Given the description of an element on the screen output the (x, y) to click on. 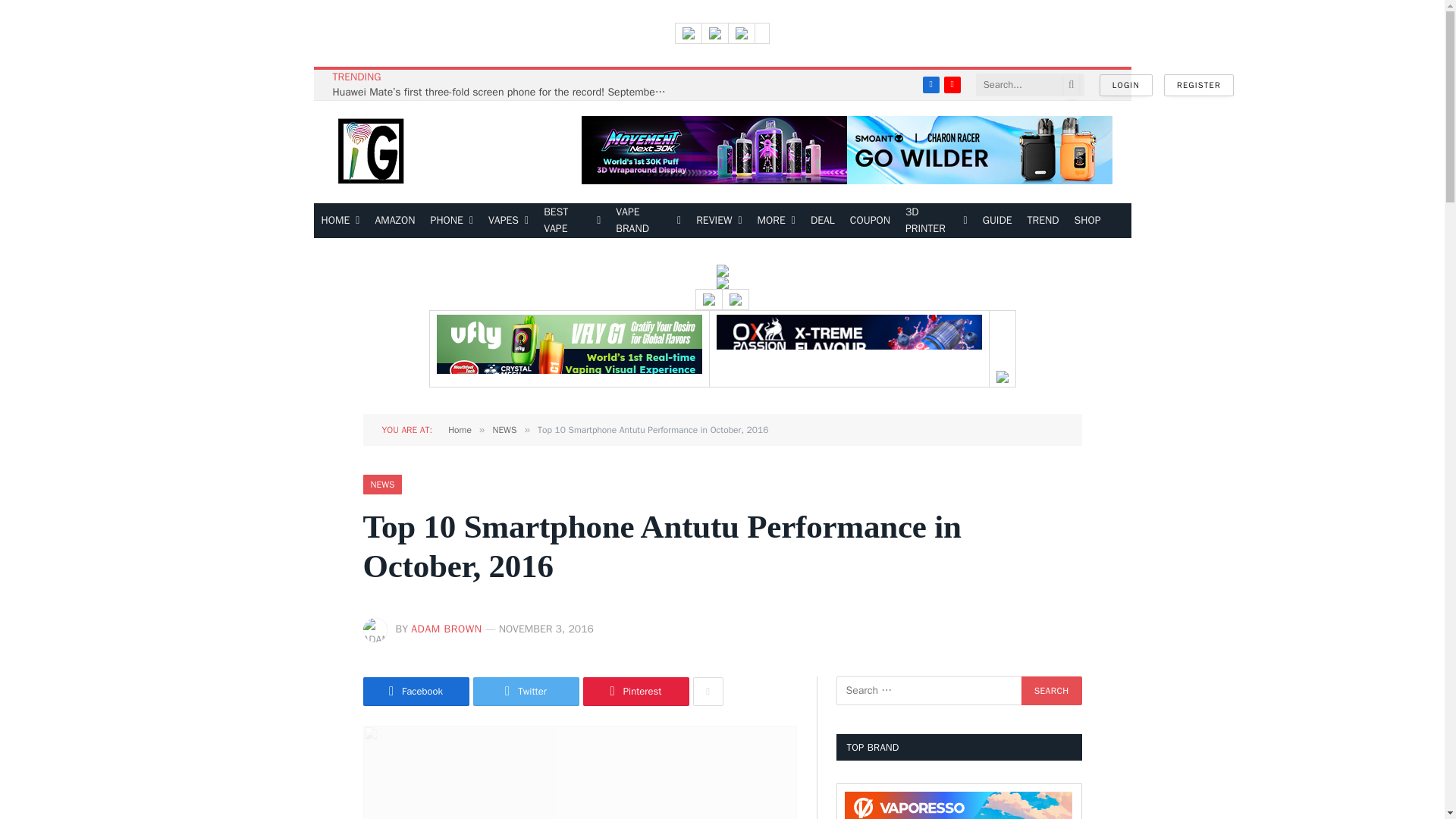
AMAZON (394, 220)
Search (1051, 690)
Share on Facebook (415, 691)
Share on Twitter (526, 691)
Show More Social Sharing (708, 691)
Share on Pinterest (635, 691)
Top 10 Smartphone Antutu Performance in October, 2016 (579, 772)
Facebook (931, 84)
PHONE (451, 220)
Posts by Adam BROWN (445, 628)
